Given the description of an element on the screen output the (x, y) to click on. 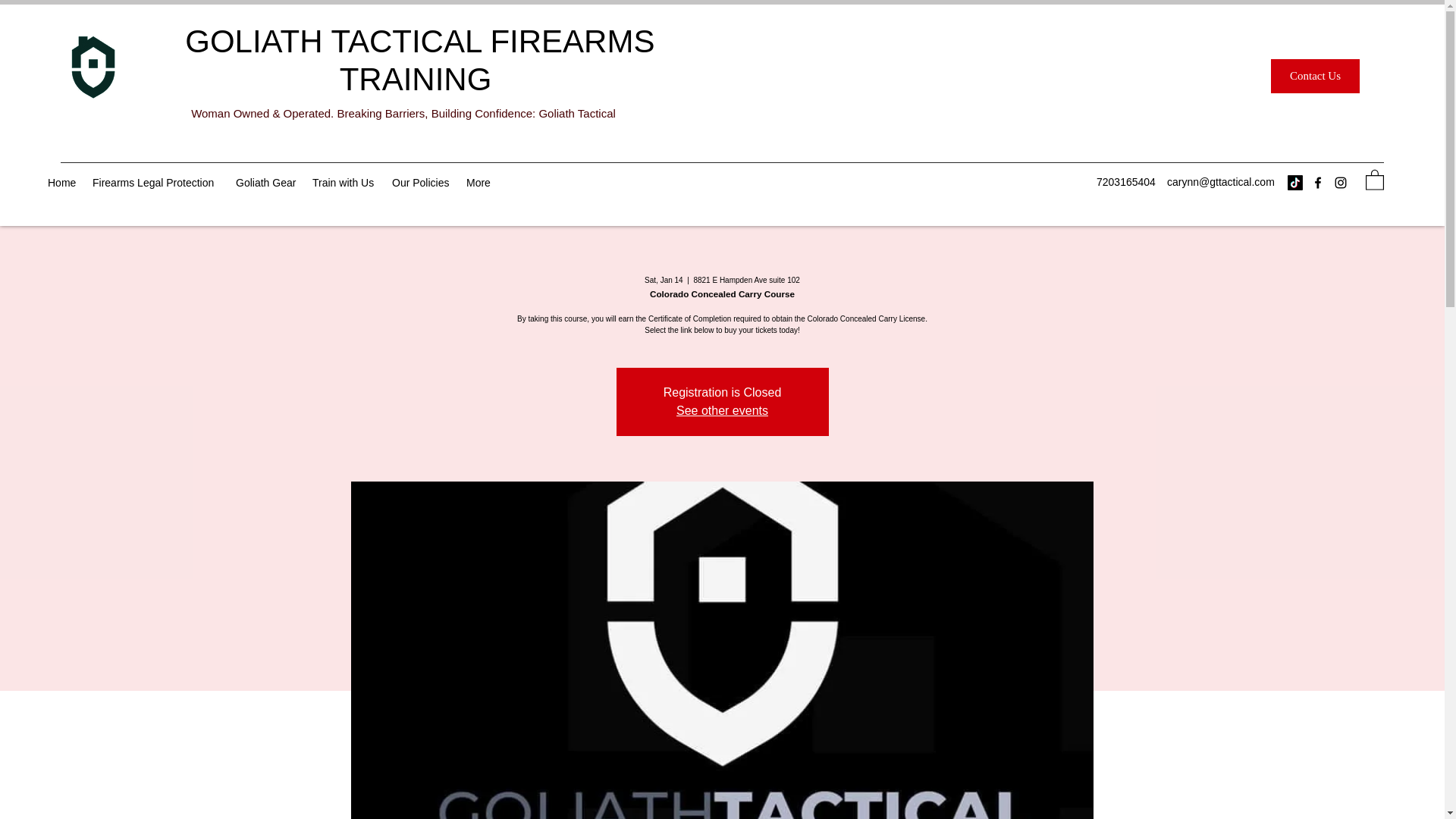
Contact Us (1315, 75)
Our Policies (421, 182)
Home (62, 182)
Firearms Legal Protection (156, 182)
Train with Us (344, 182)
Goliath Gear (266, 182)
See other events (722, 410)
